Given the description of an element on the screen output the (x, y) to click on. 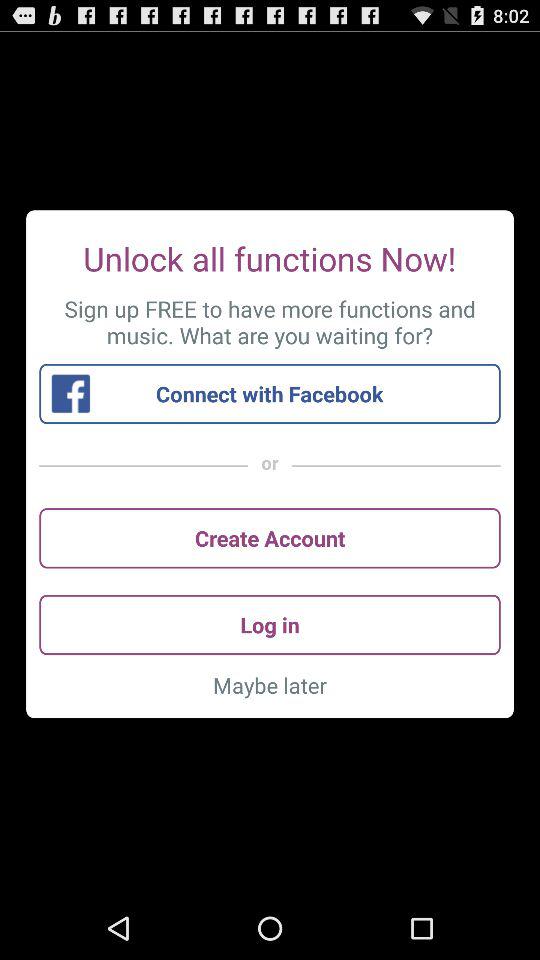
click the log in icon (269, 624)
